Given the description of an element on the screen output the (x, y) to click on. 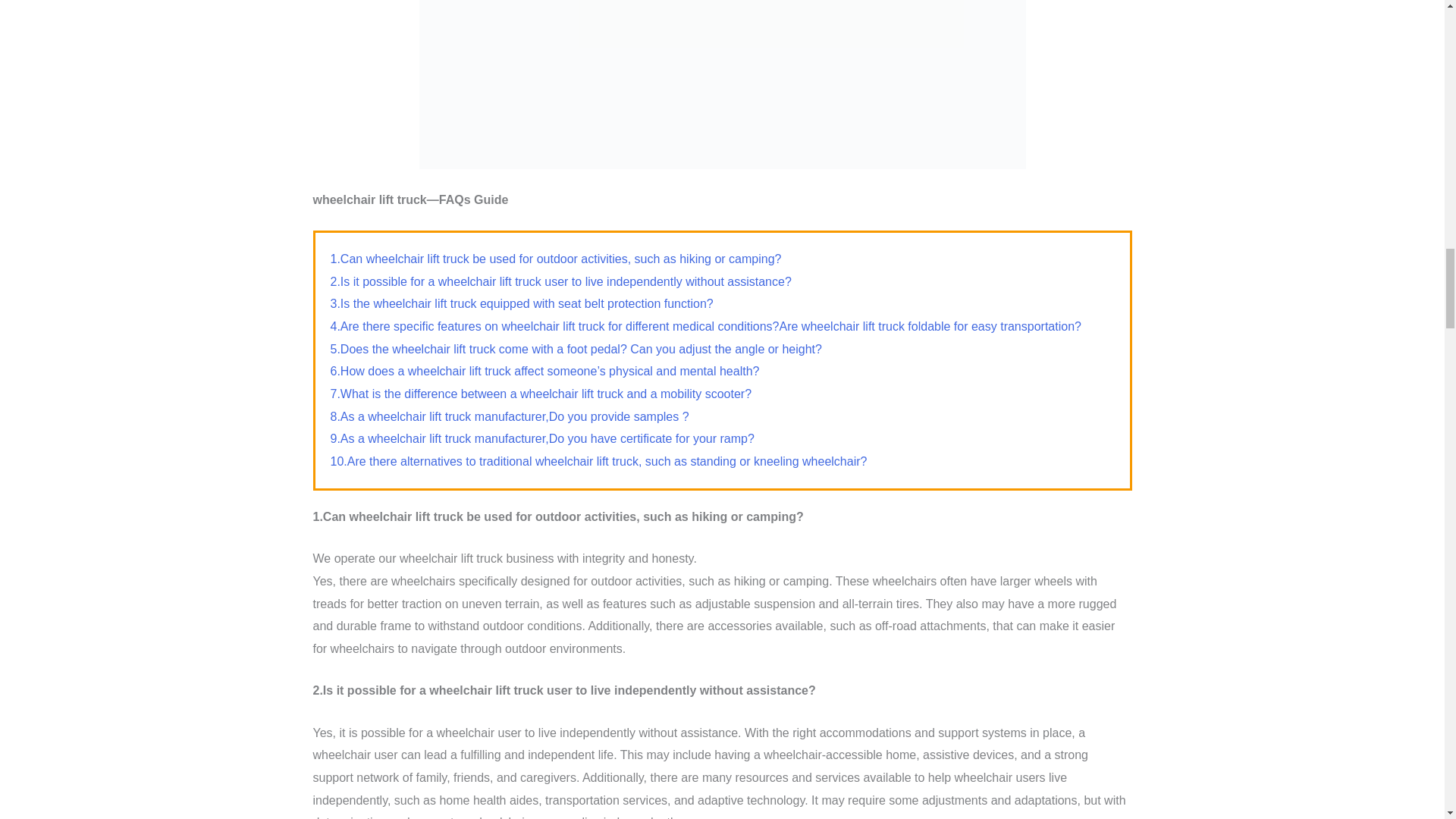
wheelchair lift truck (722, 84)
